Given the description of an element on the screen output the (x, y) to click on. 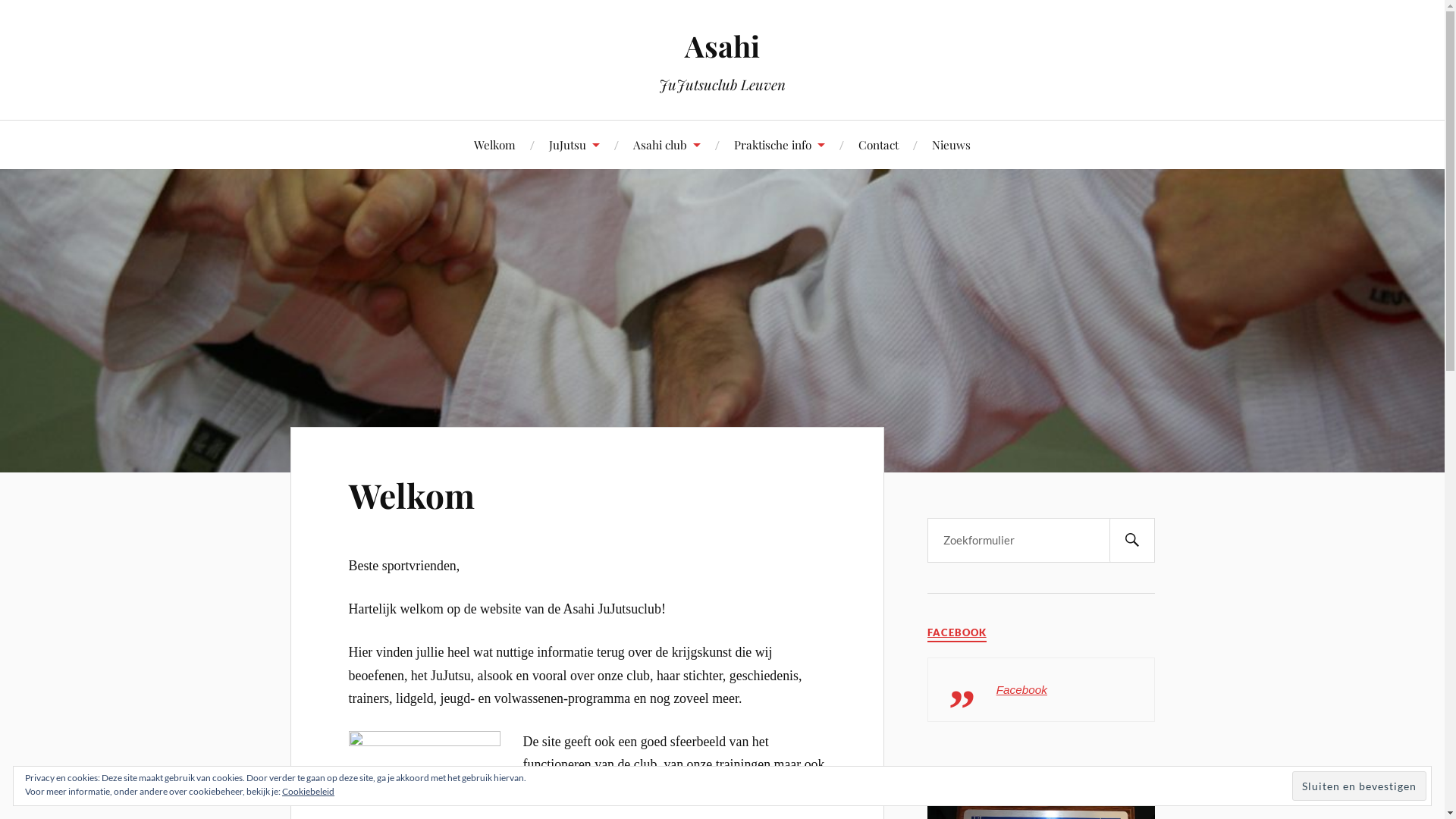
JuJutsu Element type: text (574, 144)
Cookiebeleid Element type: text (308, 791)
Sluiten en bevestigen Element type: text (1359, 785)
FACEBOOK Element type: text (956, 632)
Welkom Element type: text (411, 494)
Contact Element type: text (878, 144)
Nieuws Element type: text (950, 144)
Asahi club Element type: text (666, 144)
Facebook Element type: text (1021, 689)
Asahi Element type: text (721, 45)
Praktische info Element type: text (779, 144)
Welkom Element type: text (494, 144)
